Given the description of an element on the screen output the (x, y) to click on. 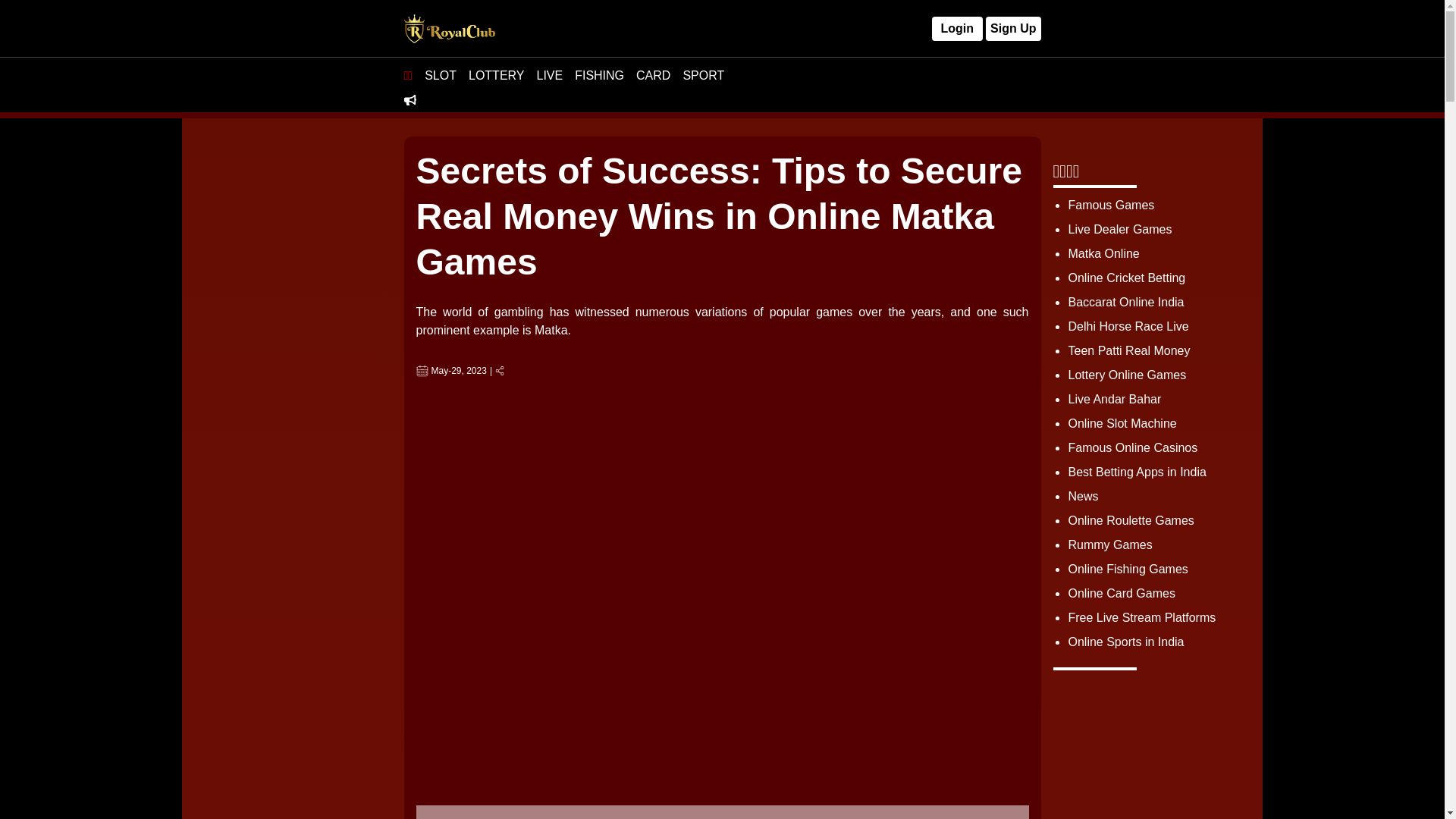
SLOT (441, 75)
LOTTERY (496, 75)
FISHING (599, 75)
Matka Online (1102, 253)
CARD (652, 75)
Login (957, 28)
SPORT (702, 75)
LIVE (548, 75)
Sign Up (1013, 28)
Live Dealer Games (1119, 228)
